Given the description of an element on the screen output the (x, y) to click on. 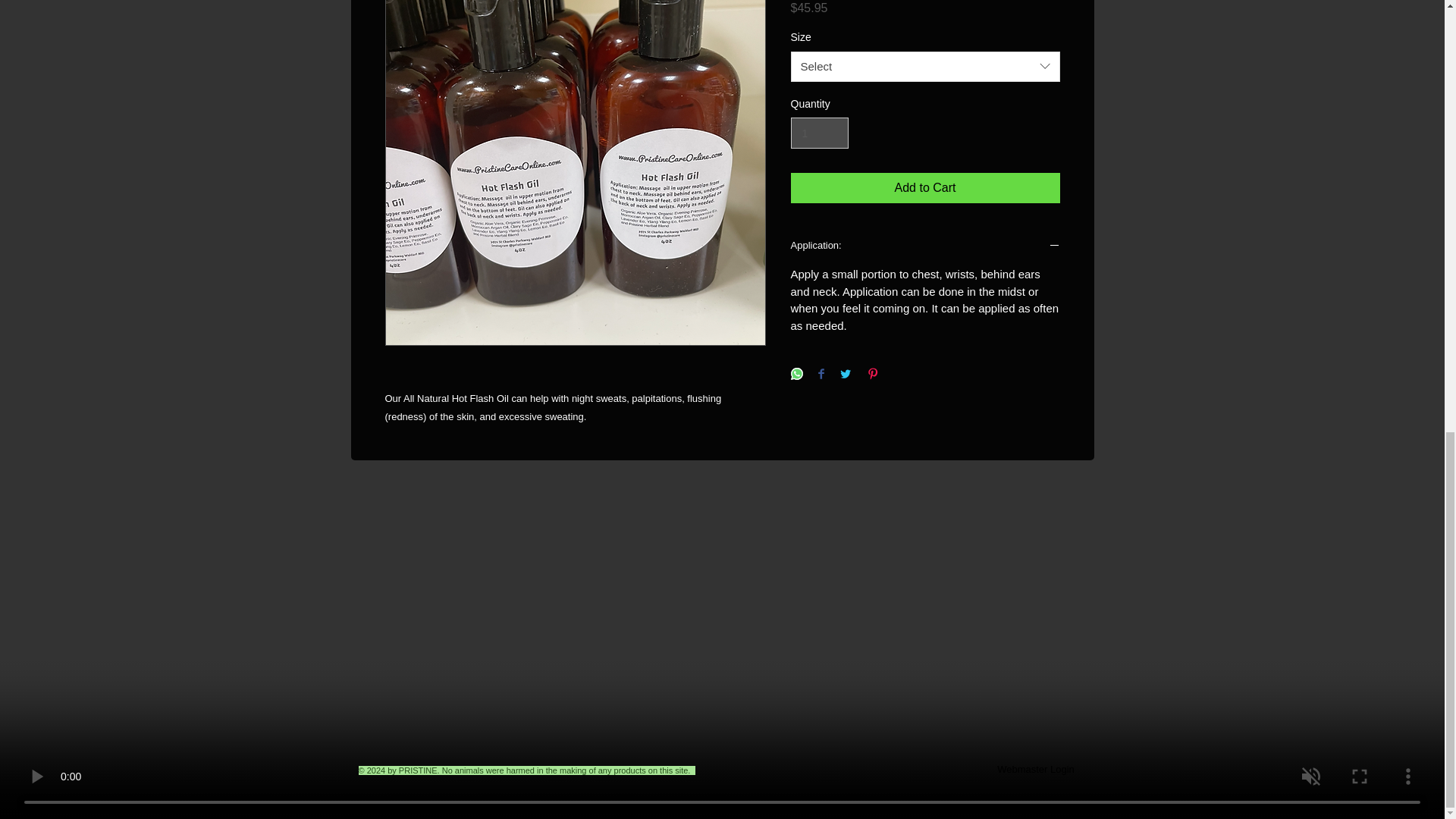
Webmaster Login (1035, 769)
1 (818, 132)
Application: (924, 246)
Select (924, 66)
Add to Cart (924, 187)
